Given the description of an element on the screen output the (x, y) to click on. 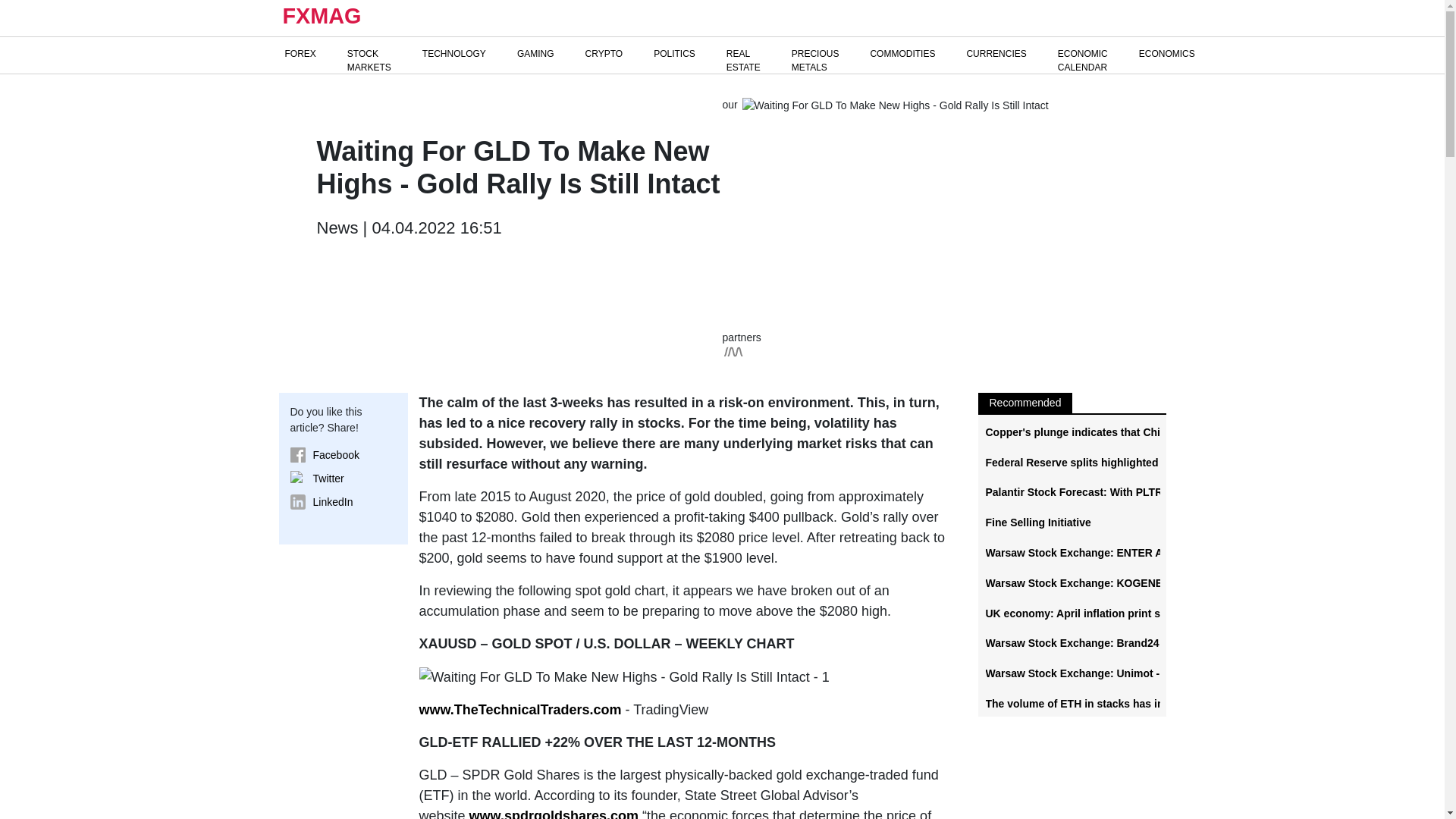
STOCK MARKETS (368, 60)
LinkedIn (342, 502)
CURRENCIES (995, 53)
GAMING (535, 53)
www.spdrgoldshares.com (553, 813)
FXMAG (320, 18)
REAL ESTATE (743, 60)
PRECIOUS METALS (815, 60)
FOREX (300, 53)
Twitter (342, 478)
POLITICS (674, 53)
www.TheTechnicalTraders.com (520, 709)
ECONOMIC CALENDAR (1082, 60)
ECONOMICS (1166, 53)
